Given the description of an element on the screen output the (x, y) to click on. 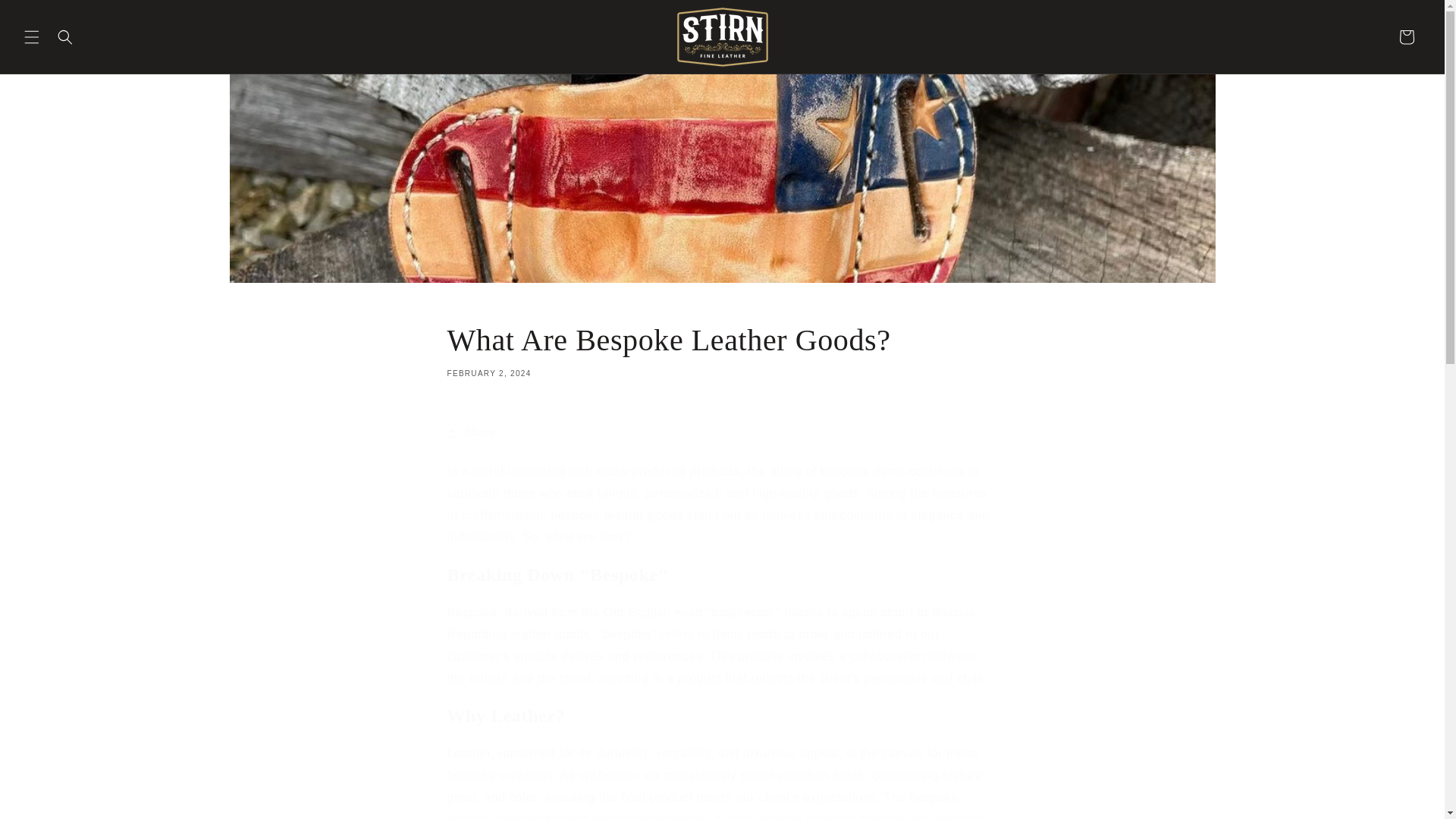
Cart (721, 349)
Skip to content (1406, 36)
Share (45, 17)
